Given the description of an element on the screen output the (x, y) to click on. 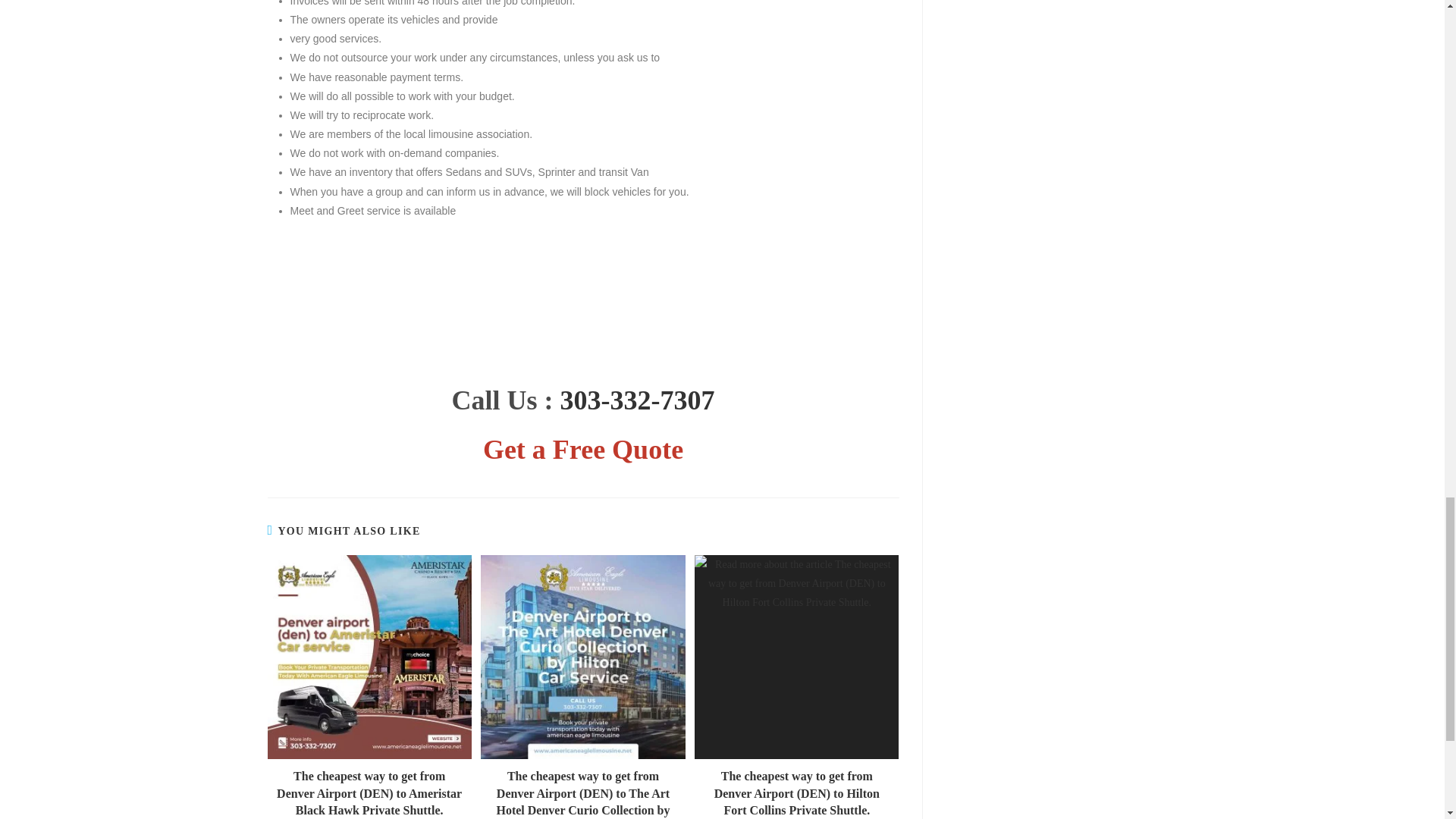
Get a Free Quote (582, 449)
303-332-7307 (636, 399)
